Given the description of an element on the screen output the (x, y) to click on. 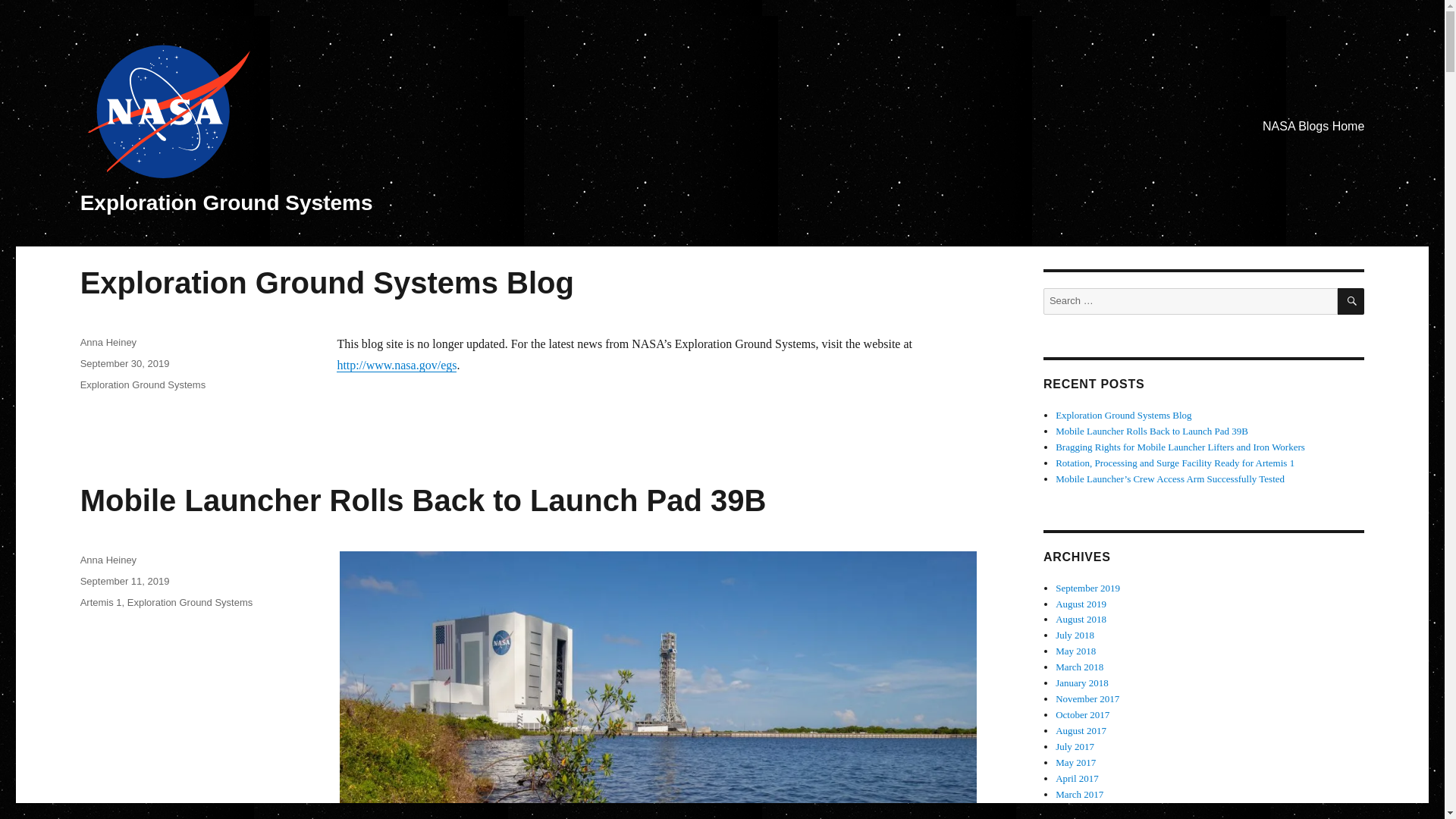
NASA Blogs Home (1313, 126)
Artemis 1 (101, 602)
Anna Heiney (108, 342)
September 30, 2019 (125, 363)
Exploration Ground Systems (226, 202)
September 11, 2019 (125, 581)
Exploration Ground Systems (142, 384)
Exploration Ground Systems Blog (326, 282)
Mobile Launcher Rolls Back to Launch Pad 39B (423, 500)
Anna Heiney (108, 559)
Exploration Ground Systems (189, 602)
